Given the description of an element on the screen output the (x, y) to click on. 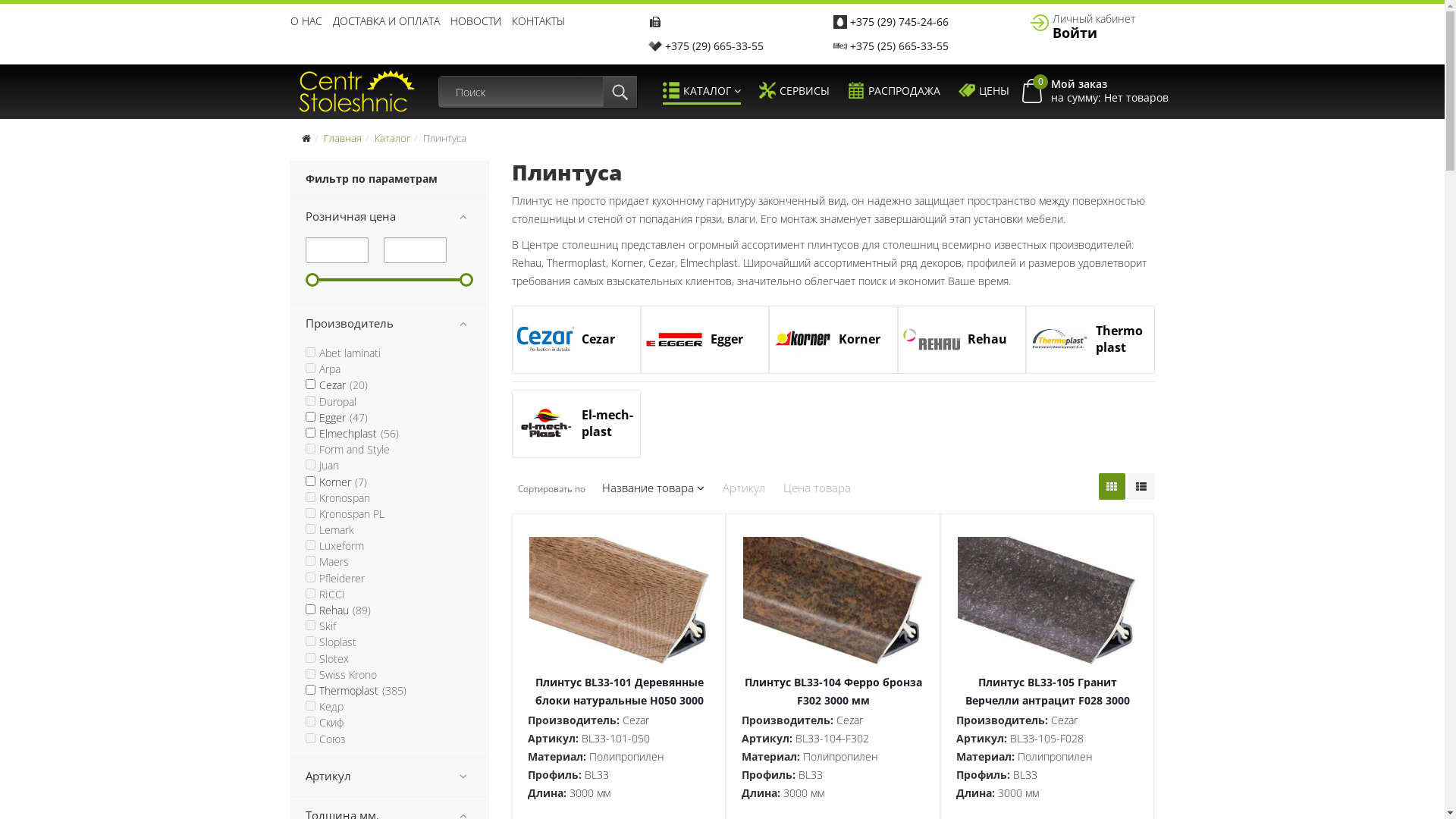
Korner Element type: text (833, 338)
Egger Element type: text (705, 338)
Thermo plast Element type: text (1090, 338)
+375 (29) 745-24-66 Element type: text (899, 21)
Rehau Element type: text (961, 338)
Cezar Element type: text (576, 338)
+375 (25) 665-33-55 Element type: text (899, 45)
El-mech-plast Element type: text (576, 423)
+375 (29) 665-33-55 Element type: text (714, 45)
